Given the description of an element on the screen output the (x, y) to click on. 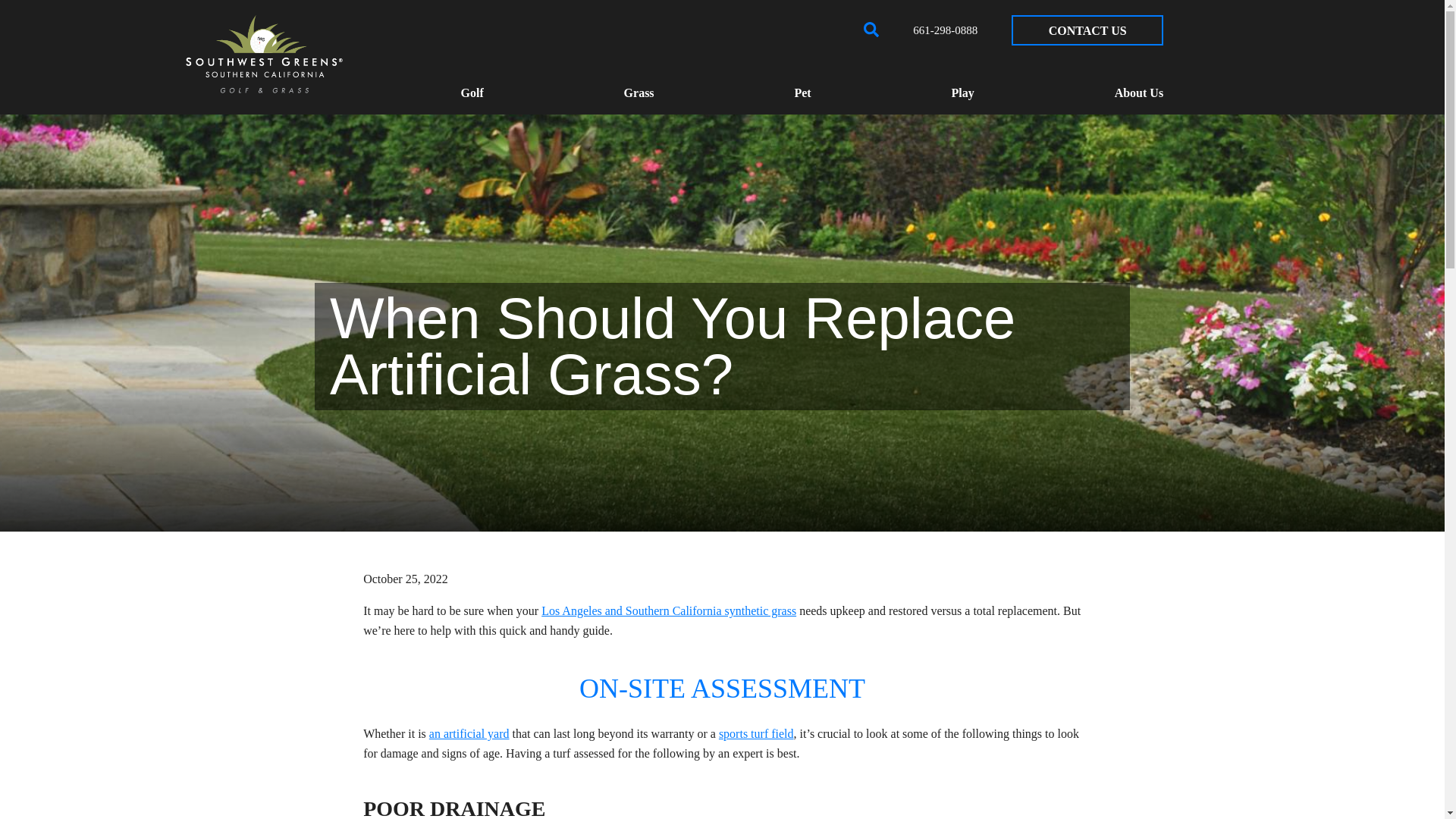
Open Search (871, 28)
661-298-0888 (944, 30)
Southwest Greens of Southern California Home (264, 54)
CONTACT US (1087, 30)
